Given the description of an element on the screen output the (x, y) to click on. 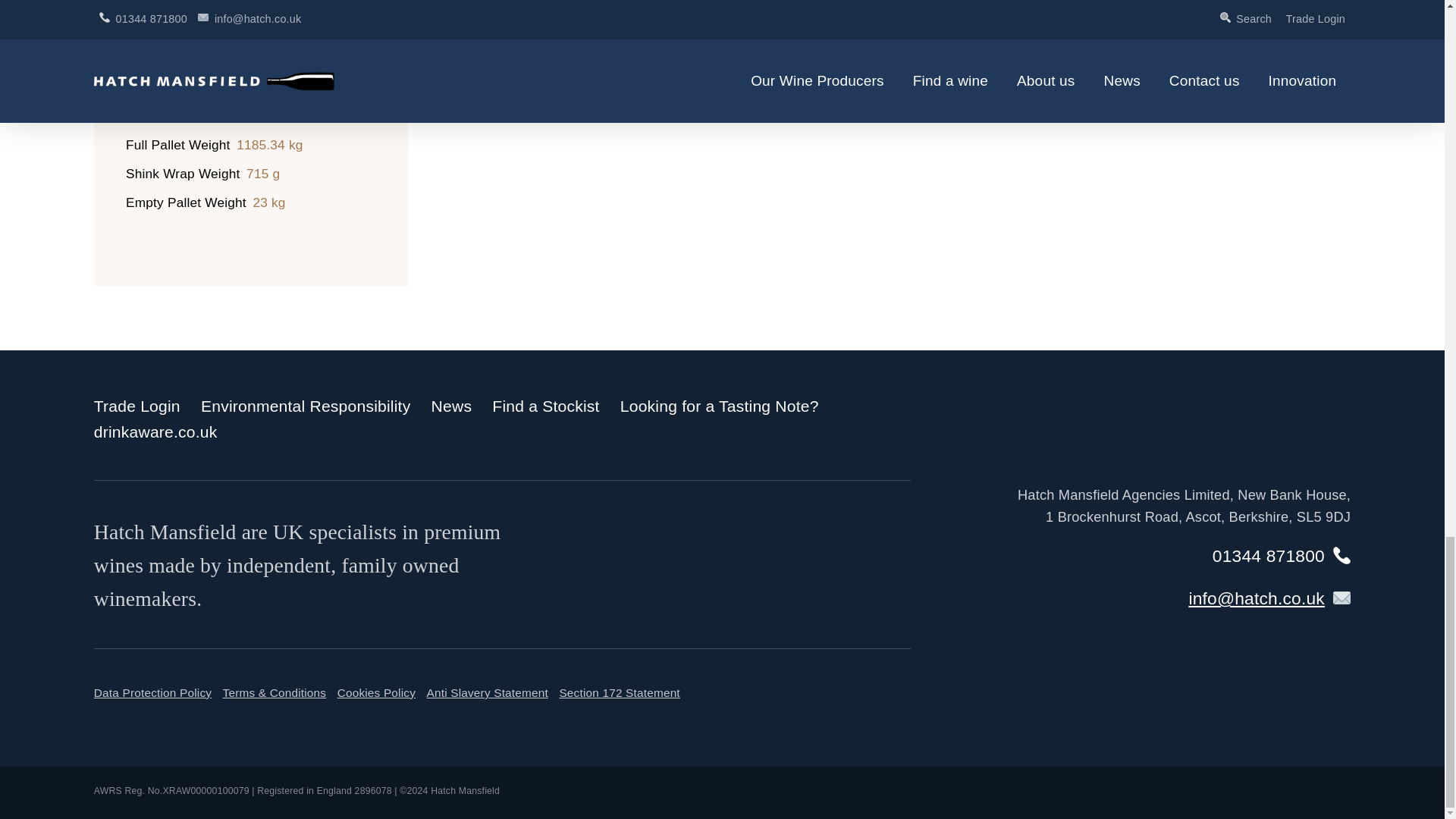
Looking for a Tasting Note? (719, 405)
Anti Slavery Statement (486, 692)
Environmental Responsibility (305, 405)
News (450, 405)
Find a Stockist (545, 405)
Data Protection Policy (152, 692)
Trade Login (137, 405)
Section 172 Statement (619, 692)
Cookies Policy (375, 692)
drinkaware.co.uk (155, 431)
